Given the description of an element on the screen output the (x, y) to click on. 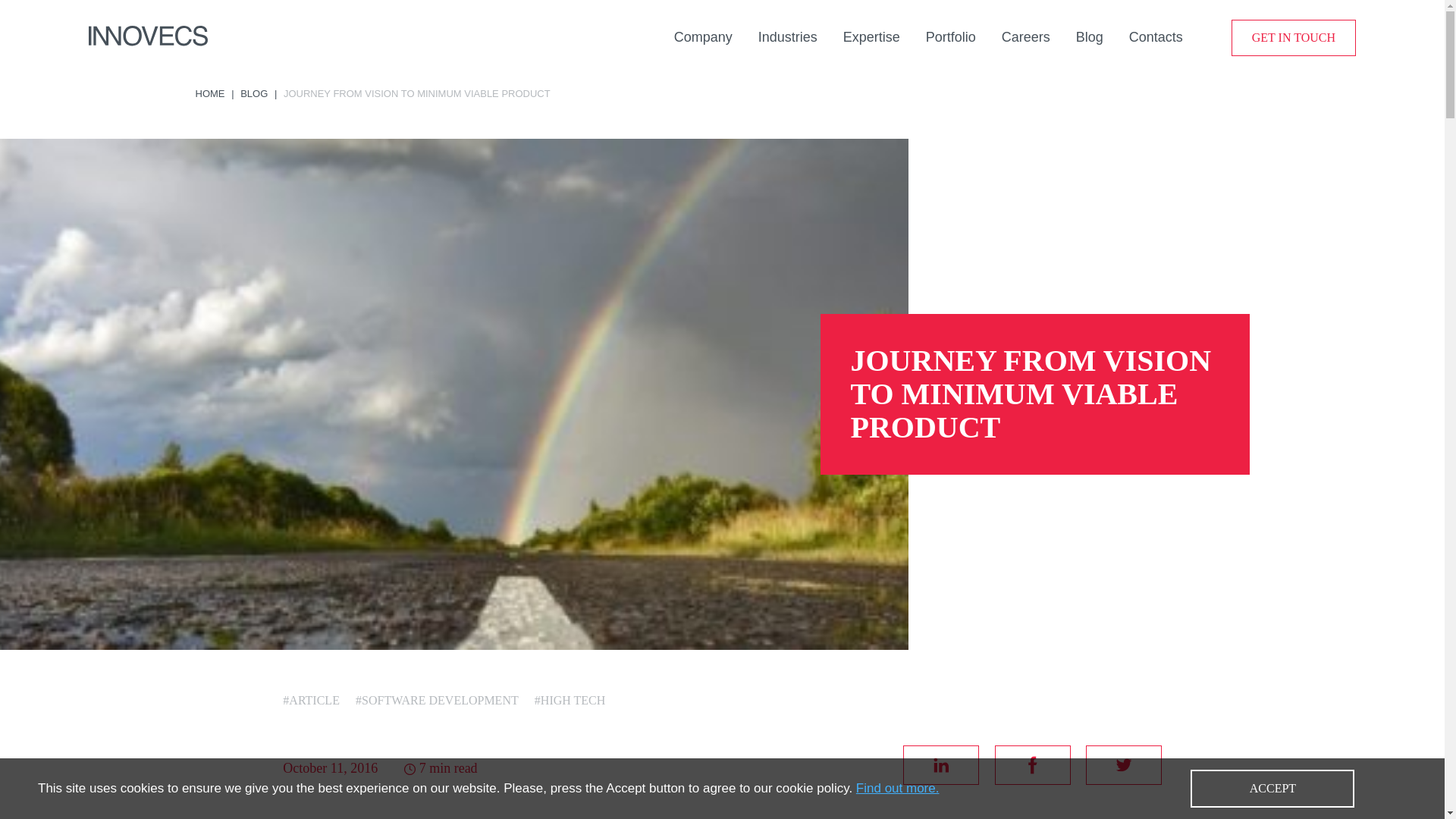
Company (703, 36)
HOME (210, 93)
Careers (1025, 36)
Contacts (1155, 36)
Expertise (871, 36)
Blog (1089, 36)
Portfolio (950, 36)
BLOG (253, 93)
